Given the description of an element on the screen output the (x, y) to click on. 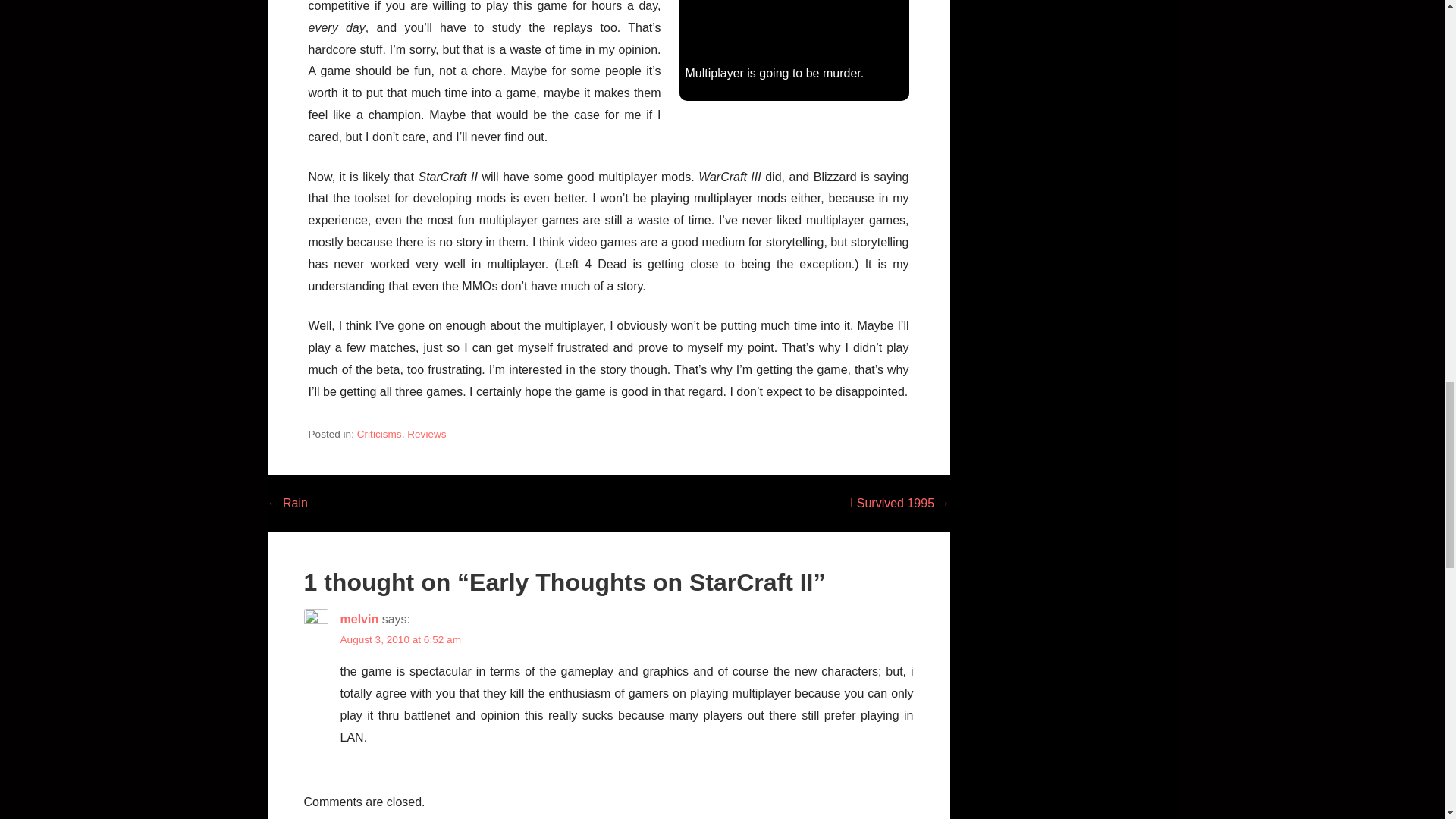
August 3, 2010 at 6:52 am (399, 639)
Criticisms (378, 433)
Reviews (426, 433)
melvin (358, 618)
